Given the description of an element on the screen output the (x, y) to click on. 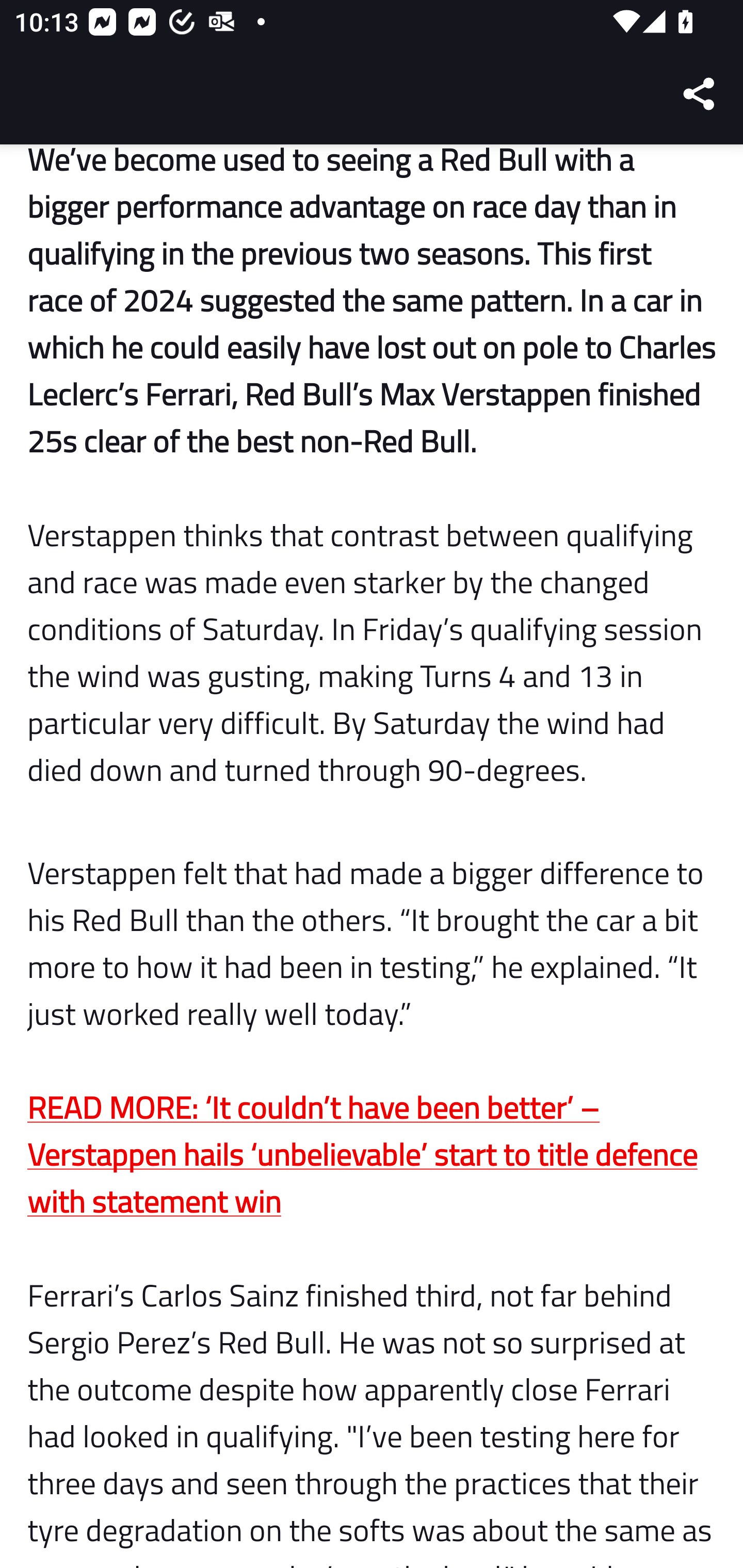
Share (699, 93)
